Given the description of an element on the screen output the (x, y) to click on. 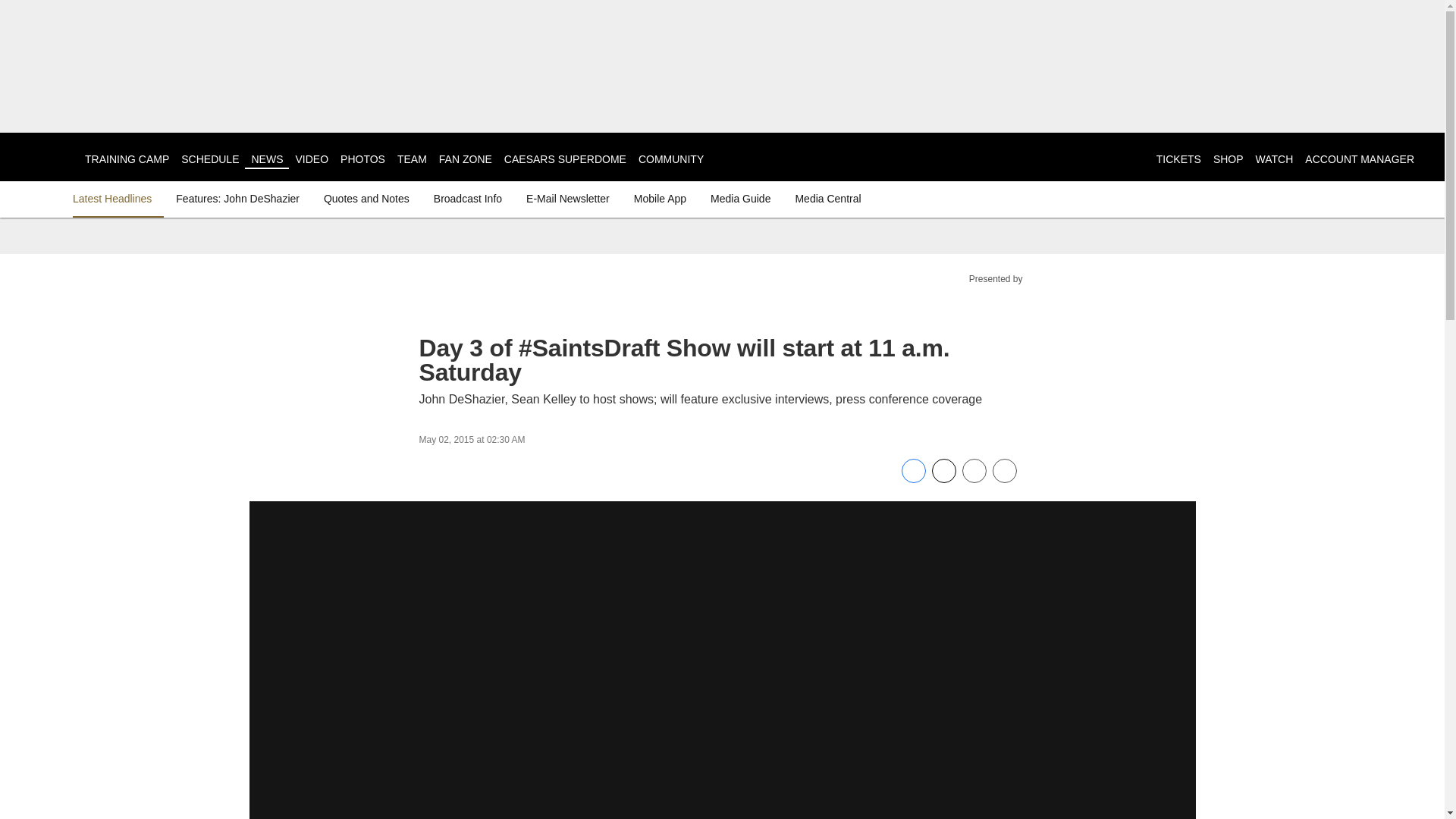
Latest Headlines (114, 198)
NEWS (266, 159)
NEWS (266, 159)
TRAINING CAMP (126, 159)
CAESARS SUPERDOME (564, 159)
SCHEDULE (209, 159)
ACCOUNT MANAGER (1358, 159)
... (722, 157)
WATCH (1274, 159)
TICKETS (1178, 159)
